Given the description of an element on the screen output the (x, y) to click on. 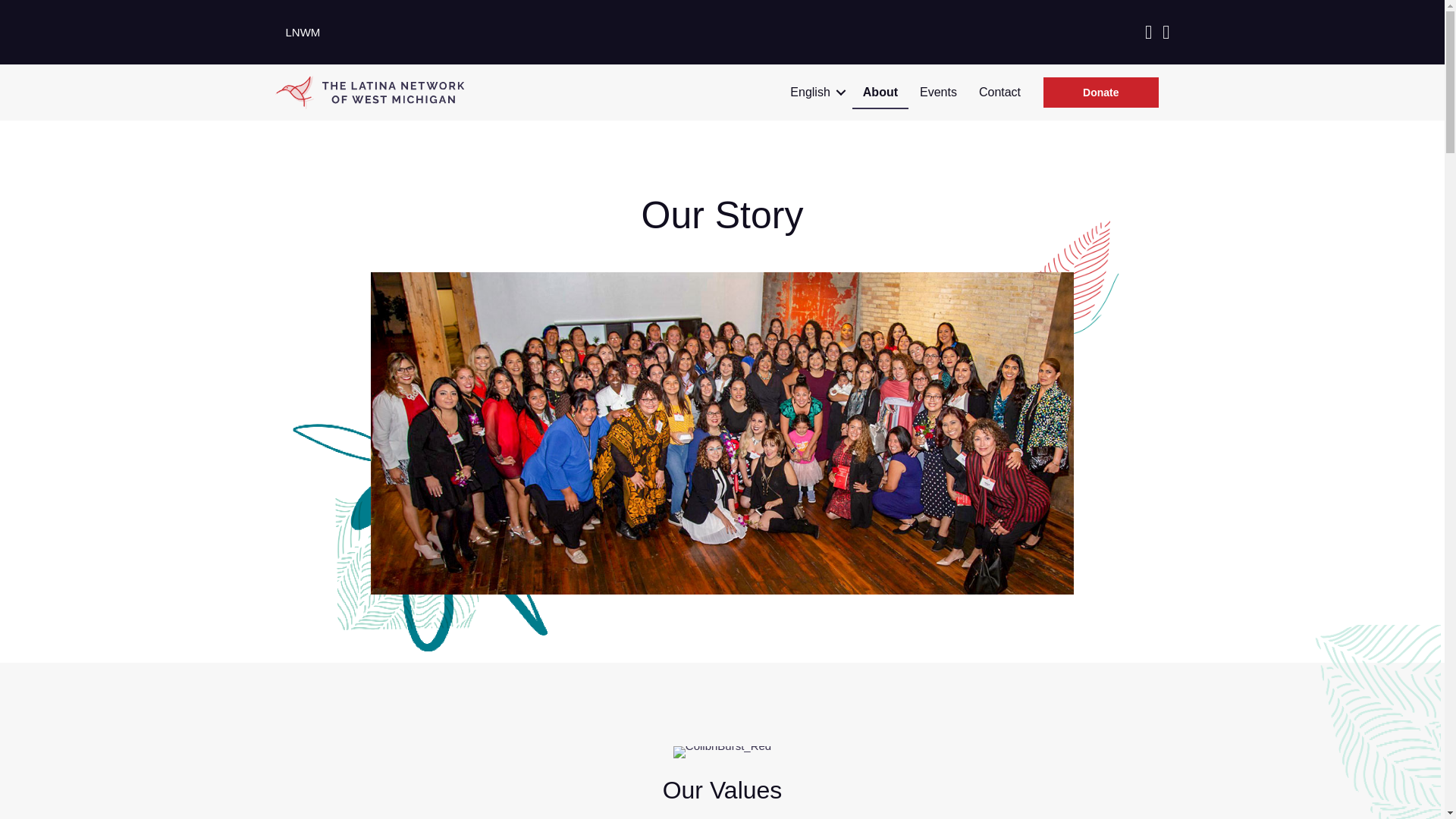
Events (938, 92)
LNWM (302, 31)
Group 5 (369, 91)
English (814, 92)
Donate (1100, 92)
Group 5 (369, 92)
About (879, 92)
English (814, 92)
Contact (999, 92)
